Given the description of an element on the screen output the (x, y) to click on. 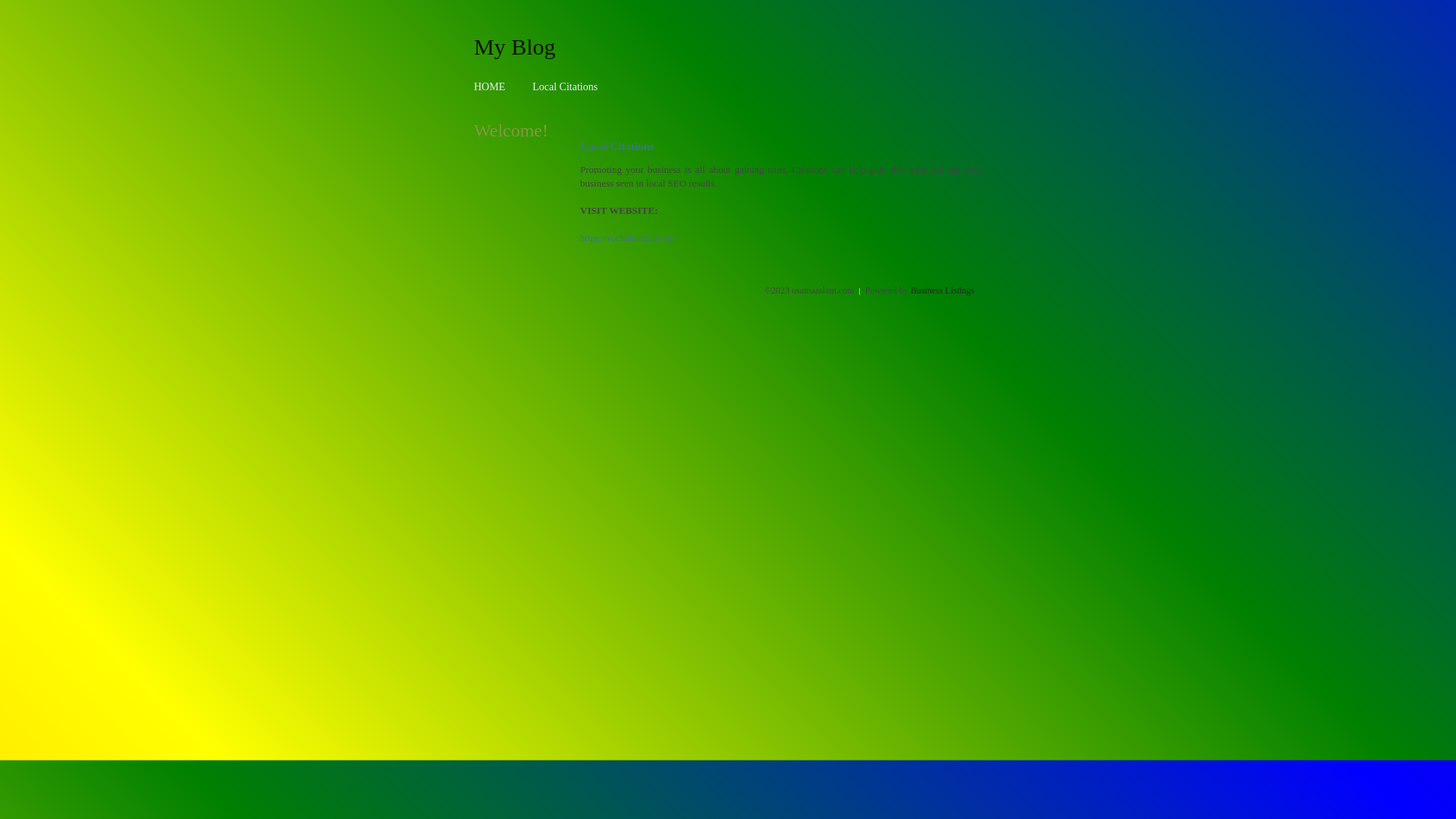
https://rochaksafar.com/ Element type: text (627, 237)
HOME Element type: text (489, 86)
Business Listings Element type: text (942, 290)
My Blog Element type: text (514, 46)
Local Citations Element type: text (564, 86)
